Given the description of an element on the screen output the (x, y) to click on. 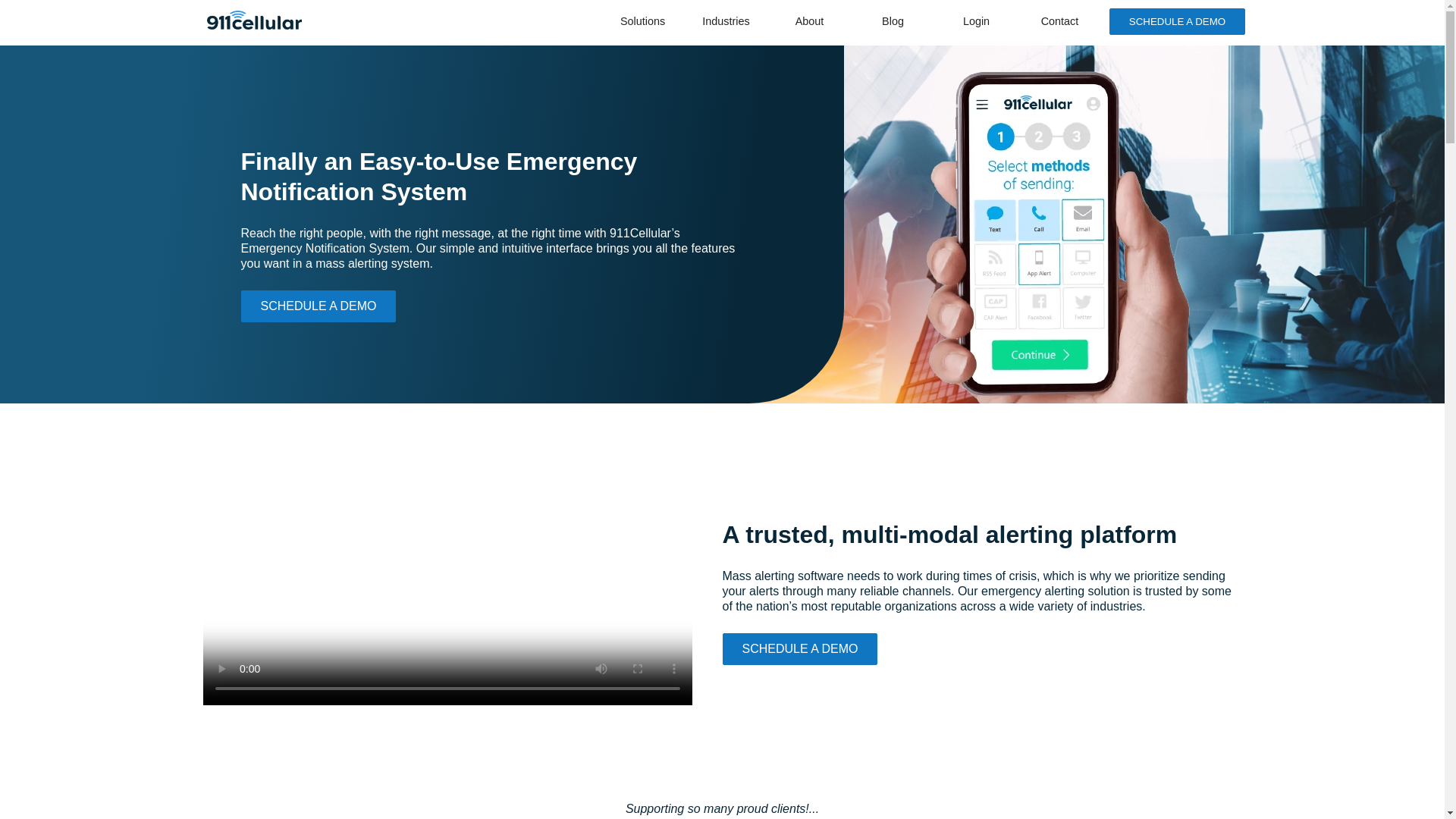
SCHEDULE A DEMO (799, 649)
SCHEDULE A DEMO (1176, 20)
Contact (1058, 22)
About (808, 22)
SCHEDULE A DEMO (318, 305)
Login (975, 22)
Blog (892, 22)
